Given the description of an element on the screen output the (x, y) to click on. 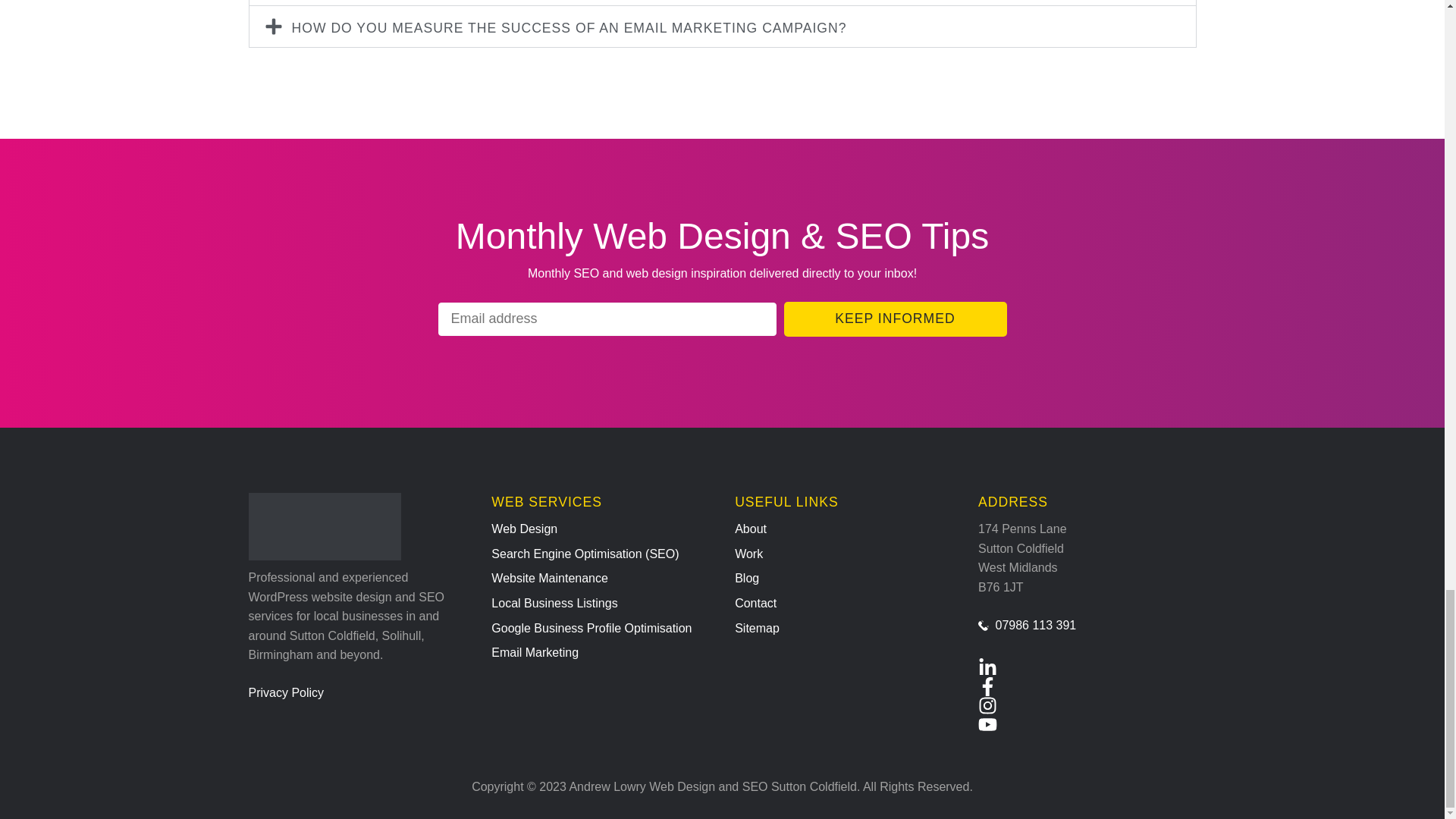
Website design and SEO blog (844, 578)
SEO Sutton Coldfield (601, 554)
Website Maintenance Sutton Coldfield (601, 578)
Local Business Listings Sutton Coldfield (601, 603)
Privacy Policy (357, 692)
Email Marketing Sutton Coldfield (601, 652)
Web design Sutton Coldfield (601, 528)
Website design portfolio (844, 554)
Google Business Profile Optimisation Sutton Coldfield (601, 628)
